Given the description of an element on the screen output the (x, y) to click on. 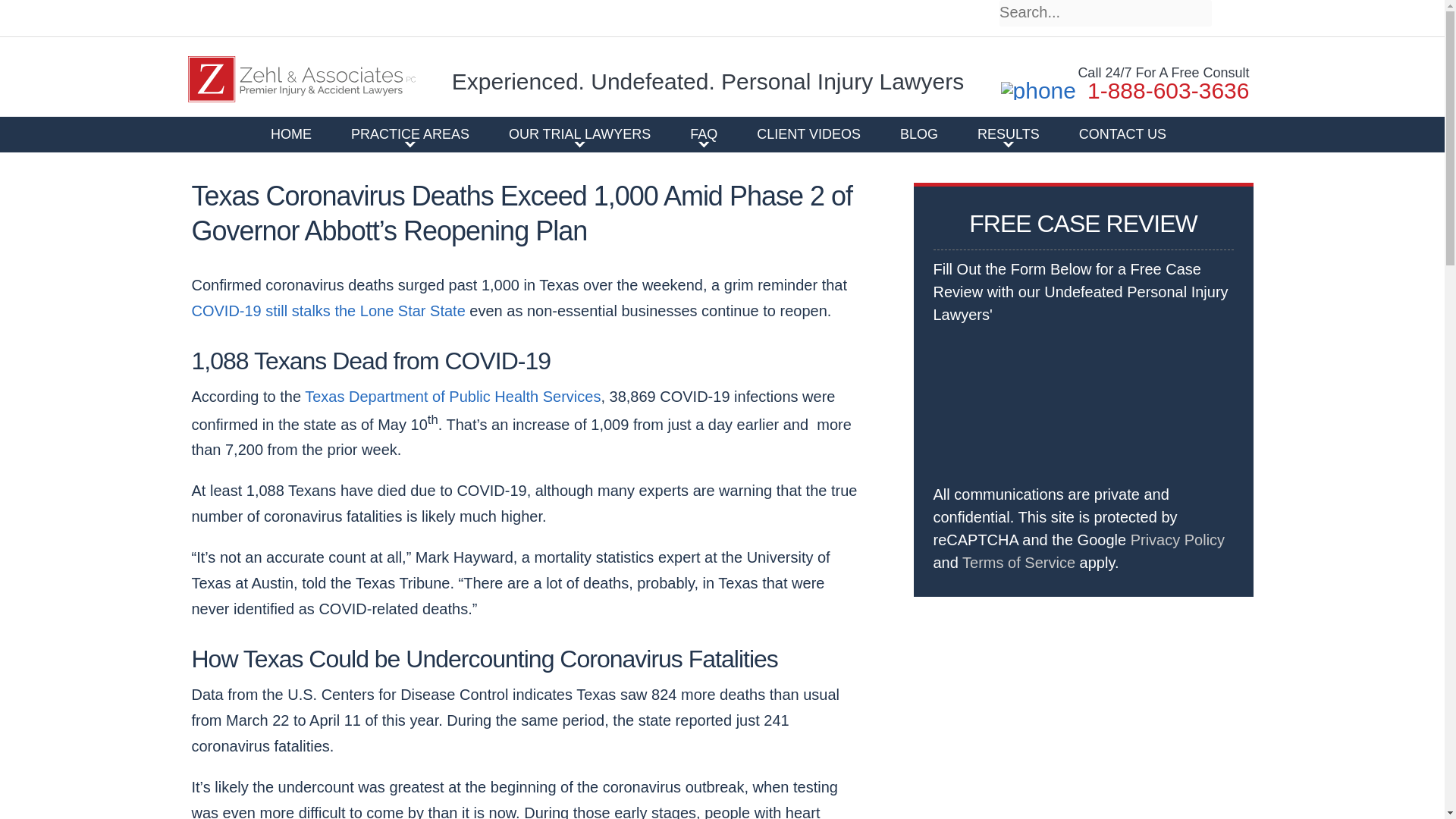
1-888-603-3636 (1125, 90)
OUR TRIAL LAWYERS (579, 133)
HOME (290, 133)
PRACTICE AREAS (409, 133)
